Given the description of an element on the screen output the (x, y) to click on. 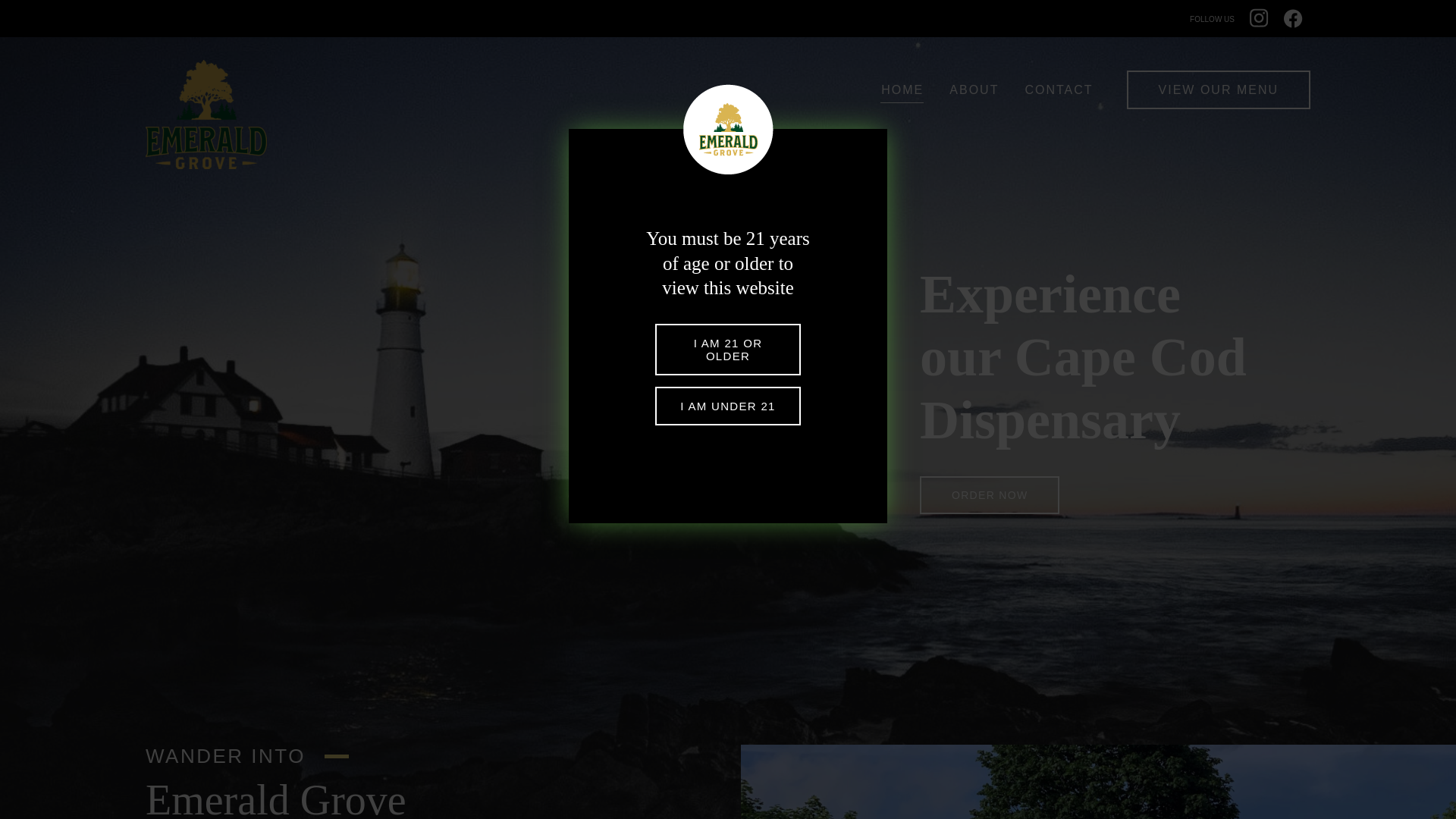
CONTACT Element type: text (1058, 89)
Insta Created with Sketch. Element type: text (1258, 25)
ABOUT Element type: text (973, 89)
Facebook Created with Sketch. Element type: text (1292, 25)
VIEW OUR MENU Element type: text (1218, 89)
HOME Element type: text (901, 93)
ORDER NOW Element type: text (989, 495)
I AM 21 OR OLDER Element type: text (727, 349)
I AM UNDER 21 Element type: text (727, 405)
